Given the description of an element on the screen output the (x, y) to click on. 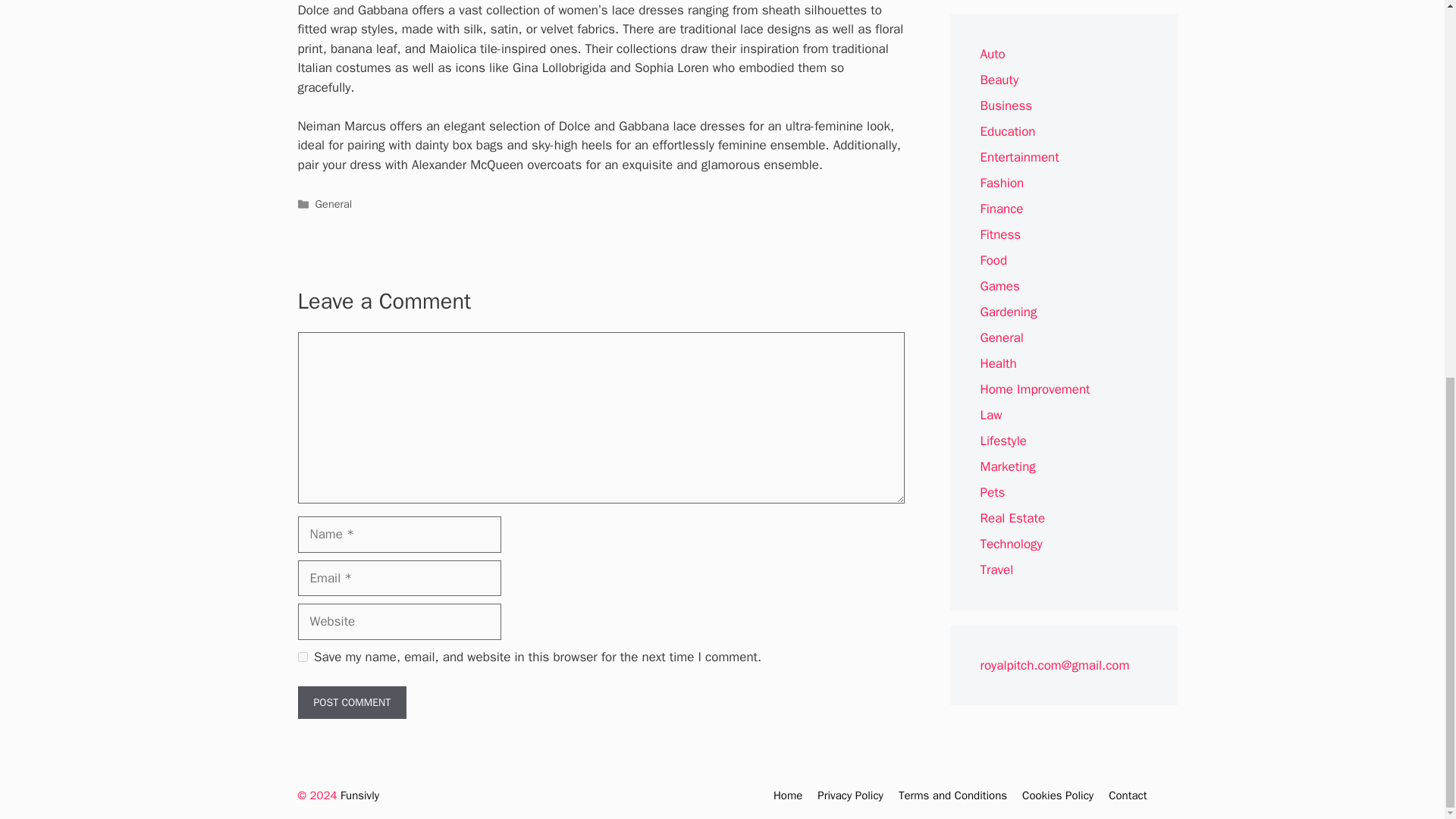
Post Comment (351, 702)
Food (993, 260)
Business (1005, 105)
yes (302, 656)
Fitness (999, 234)
Lifestyle (1002, 440)
General (333, 203)
Entertainment (1018, 157)
Auto (991, 53)
Marketing (1007, 466)
Gardening (1007, 311)
Fashion (1001, 182)
General (1001, 337)
Games (999, 286)
Post Comment (351, 702)
